Given the description of an element on the screen output the (x, y) to click on. 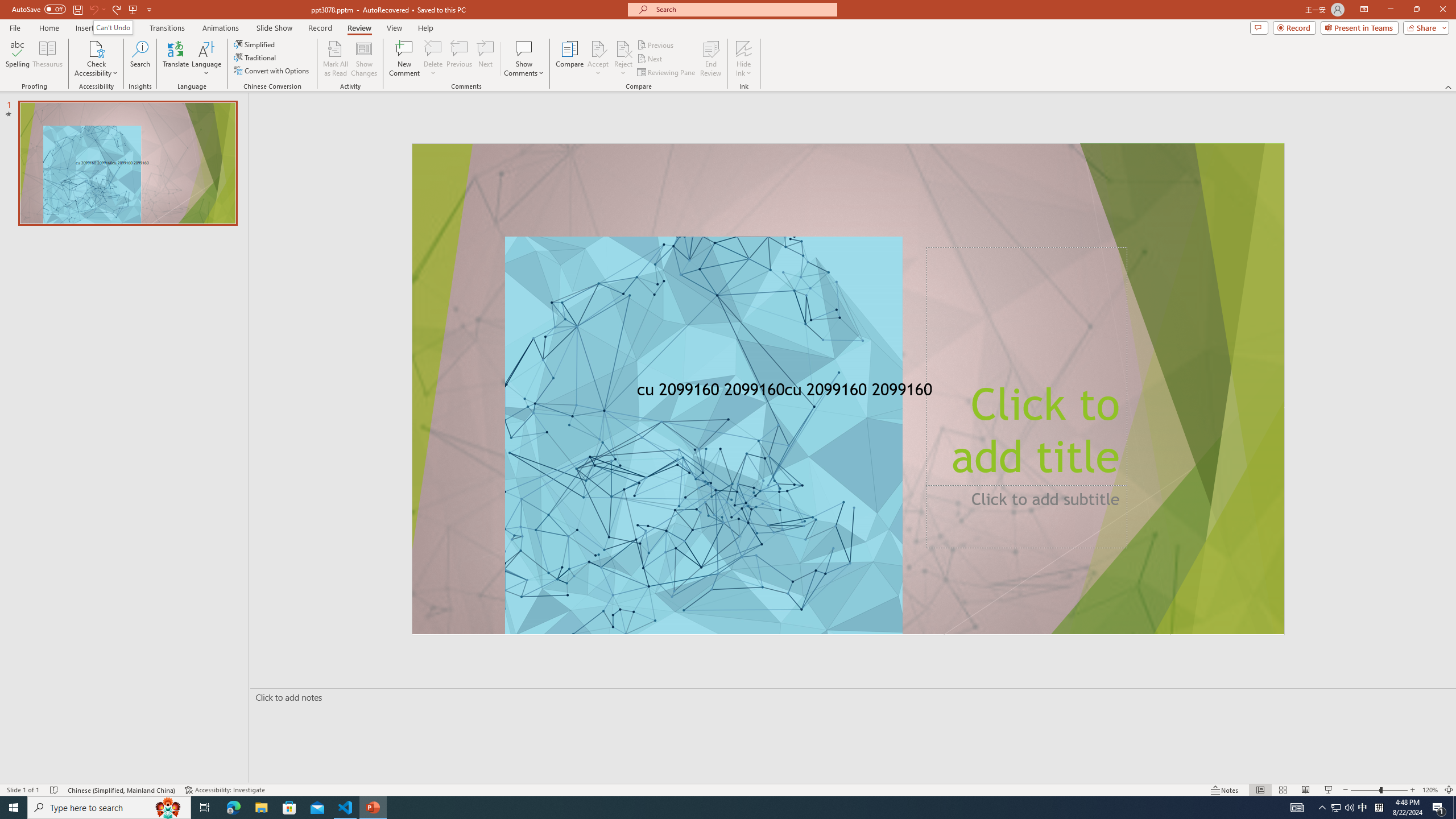
Accept (598, 58)
